Given the description of an element on the screen output the (x, y) to click on. 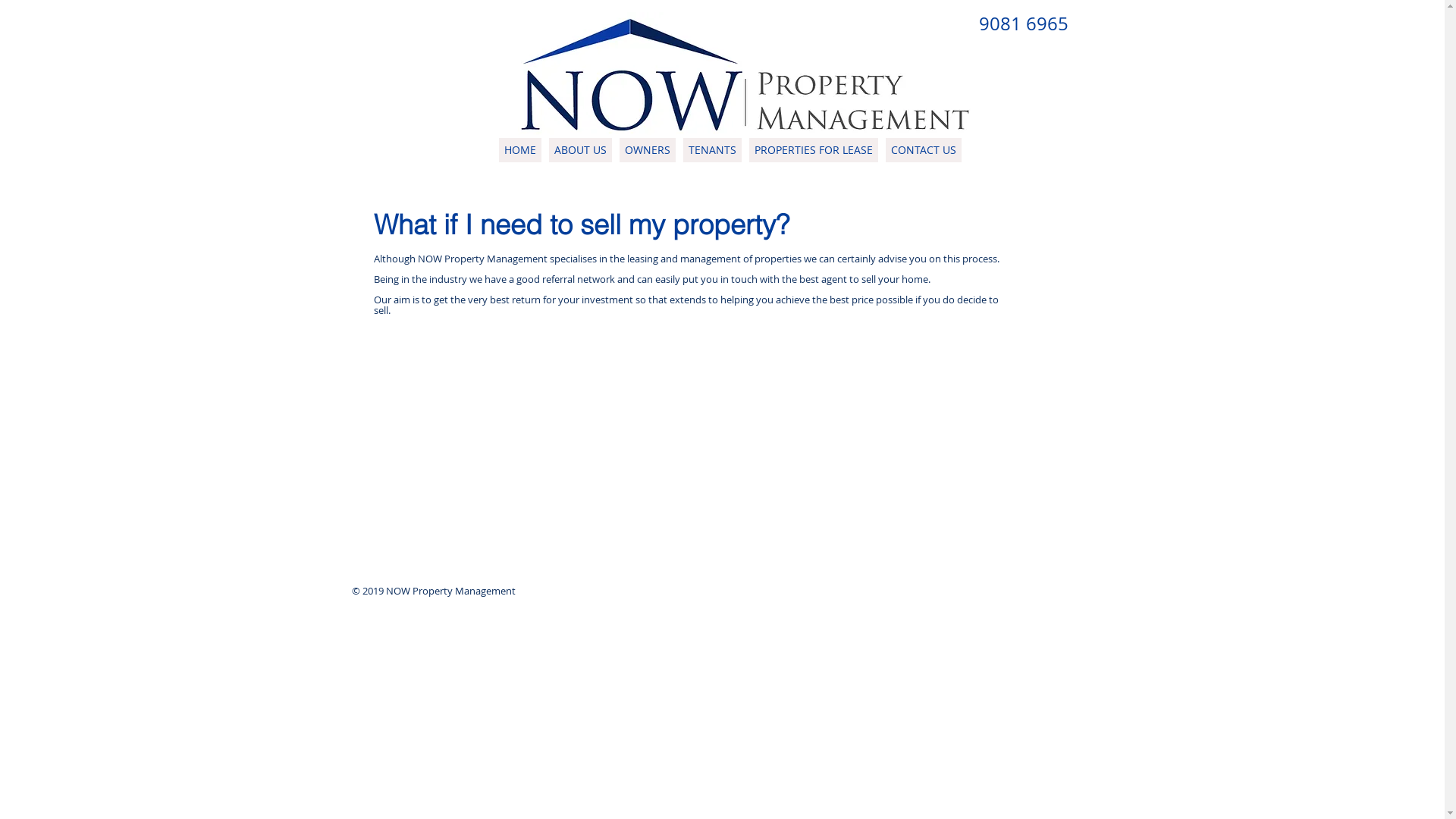
CONTACT US Element type: text (923, 150)
TENANTS Element type: text (711, 150)
OWNERS Element type: text (646, 150)
PROPERTIES FOR LEASE Element type: text (813, 150)
ABOUT US Element type: text (580, 150)
HOME Element type: text (519, 150)
JPEG 395KB.jpg Element type: hover (744, 73)
